Given the description of an element on the screen output the (x, y) to click on. 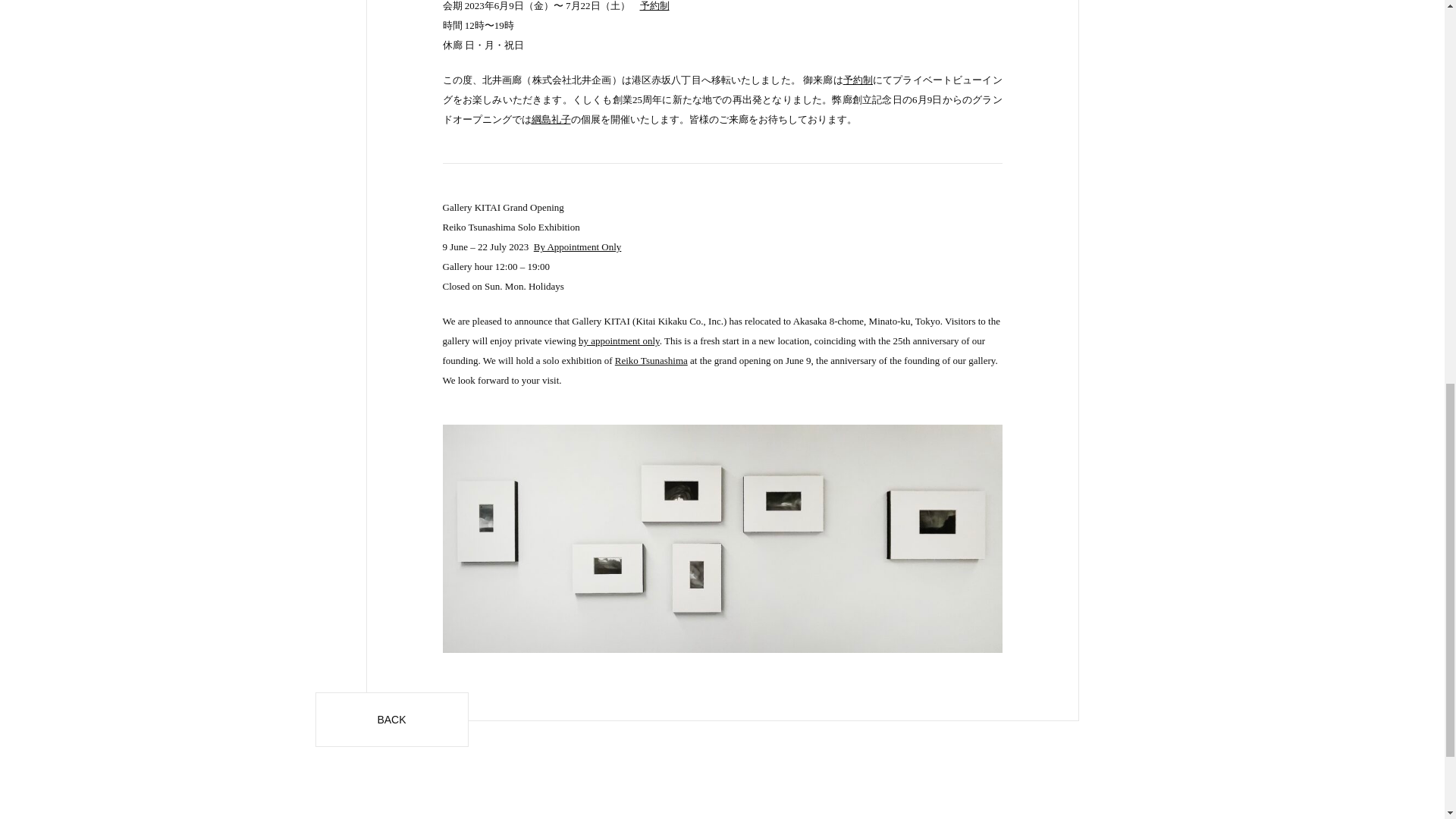
By Appointment Only (577, 246)
Reiko Tsunashima (650, 360)
BACK (391, 719)
by appointment only (618, 340)
